Given the description of an element on the screen output the (x, y) to click on. 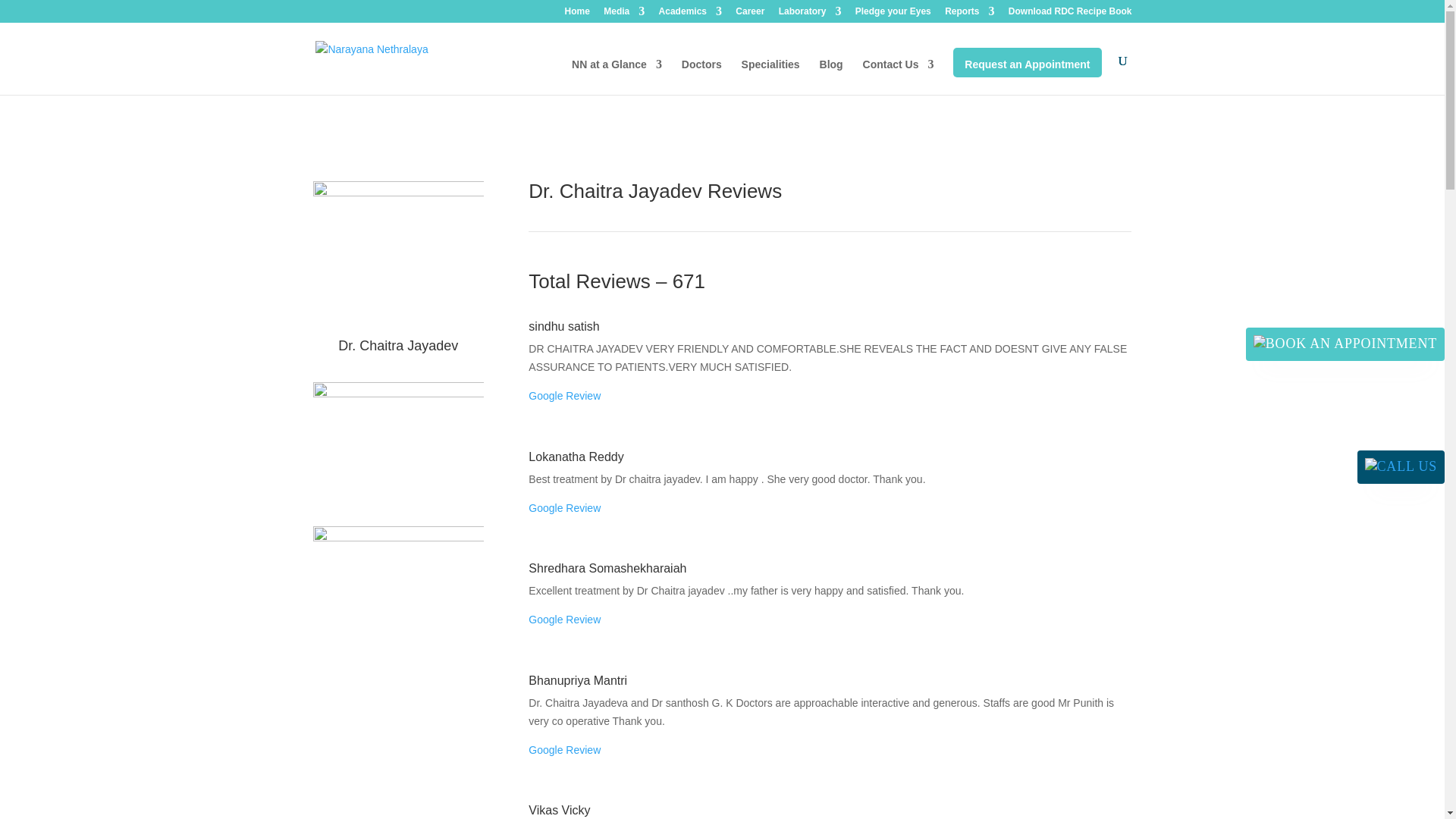
Facebook-Rating (398, 586)
Media (624, 14)
Laboratory (809, 14)
Doctors (701, 76)
Career (749, 14)
Contact Us (898, 76)
Academics (690, 14)
Home (576, 14)
Reports (969, 14)
Google-Rating (398, 442)
